Given the description of an element on the screen output the (x, y) to click on. 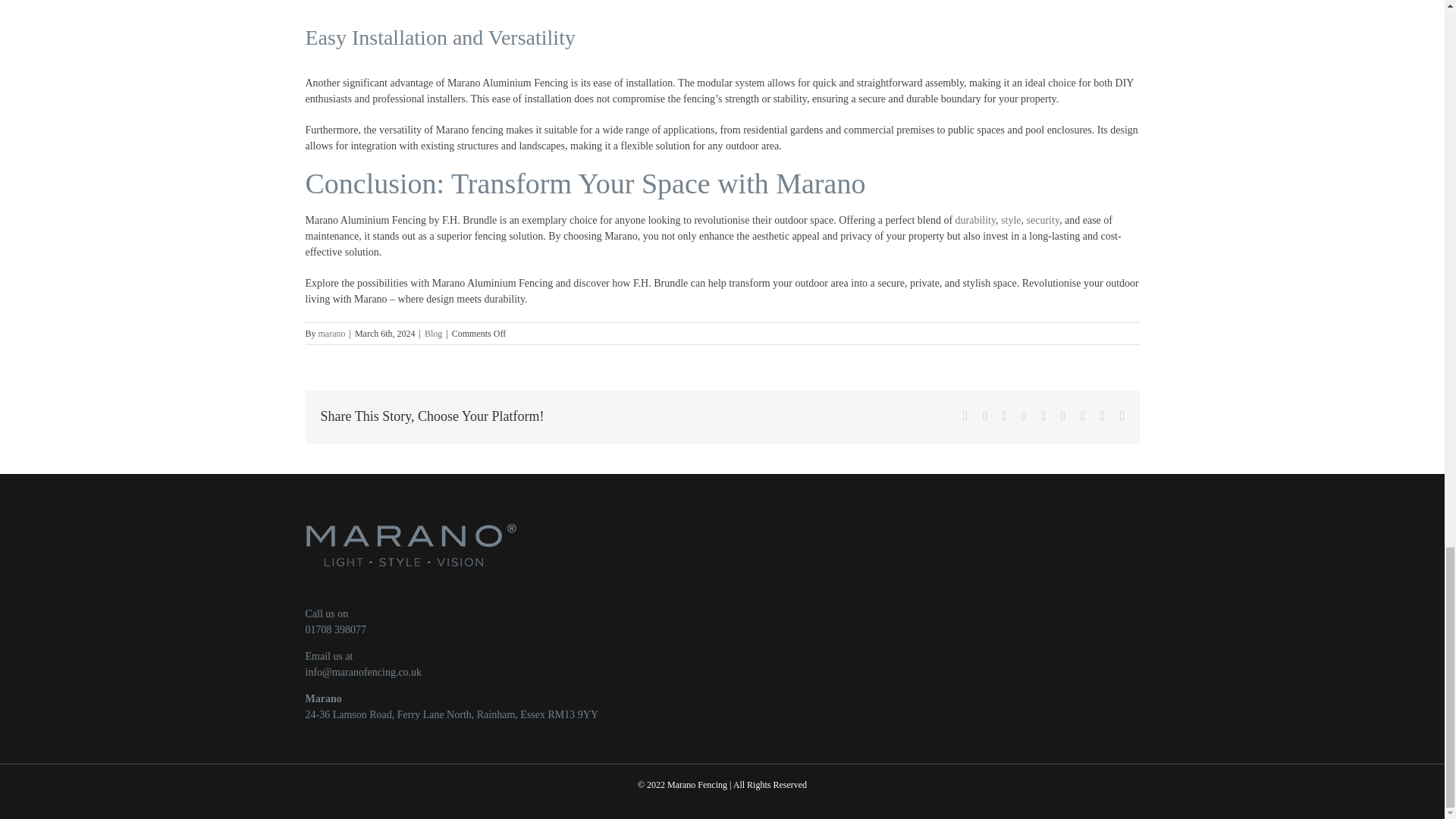
Posts by marano (332, 333)
